Given the description of an element on the screen output the (x, y) to click on. 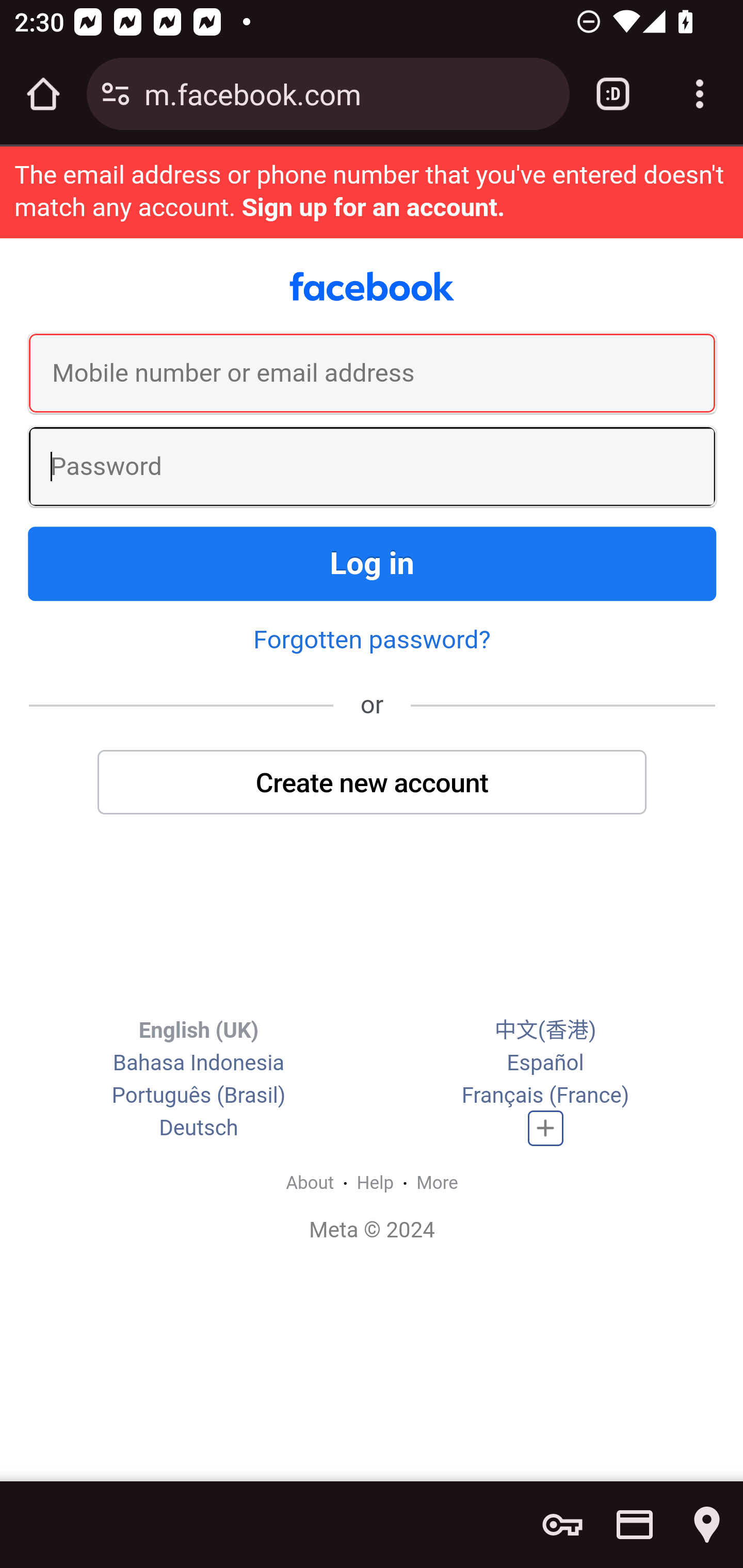
Open the home page (43, 93)
Connection is secure (115, 93)
Switch or close tabs (612, 93)
Customize and control Google Chrome (699, 93)
m.facebook.com (349, 92)
Sign up for an account. (372, 207)
facebook (372, 286)
Log in (372, 563)
Forgotten password? (371, 639)
Create new account (372, 782)
中文(香港) (544, 1030)
Bahasa Indonesia (198, 1061)
Español (545, 1061)
Português (Brasil) (197, 1094)
Français (France) (544, 1094)
Complete list of languages (545, 1127)
Deutsch (198, 1127)
About (310, 1181)
Help (375, 1181)
Show saved passwords and password options (562, 1524)
Show saved payment methods (634, 1524)
Show saved addresses (706, 1524)
